Given the description of an element on the screen output the (x, y) to click on. 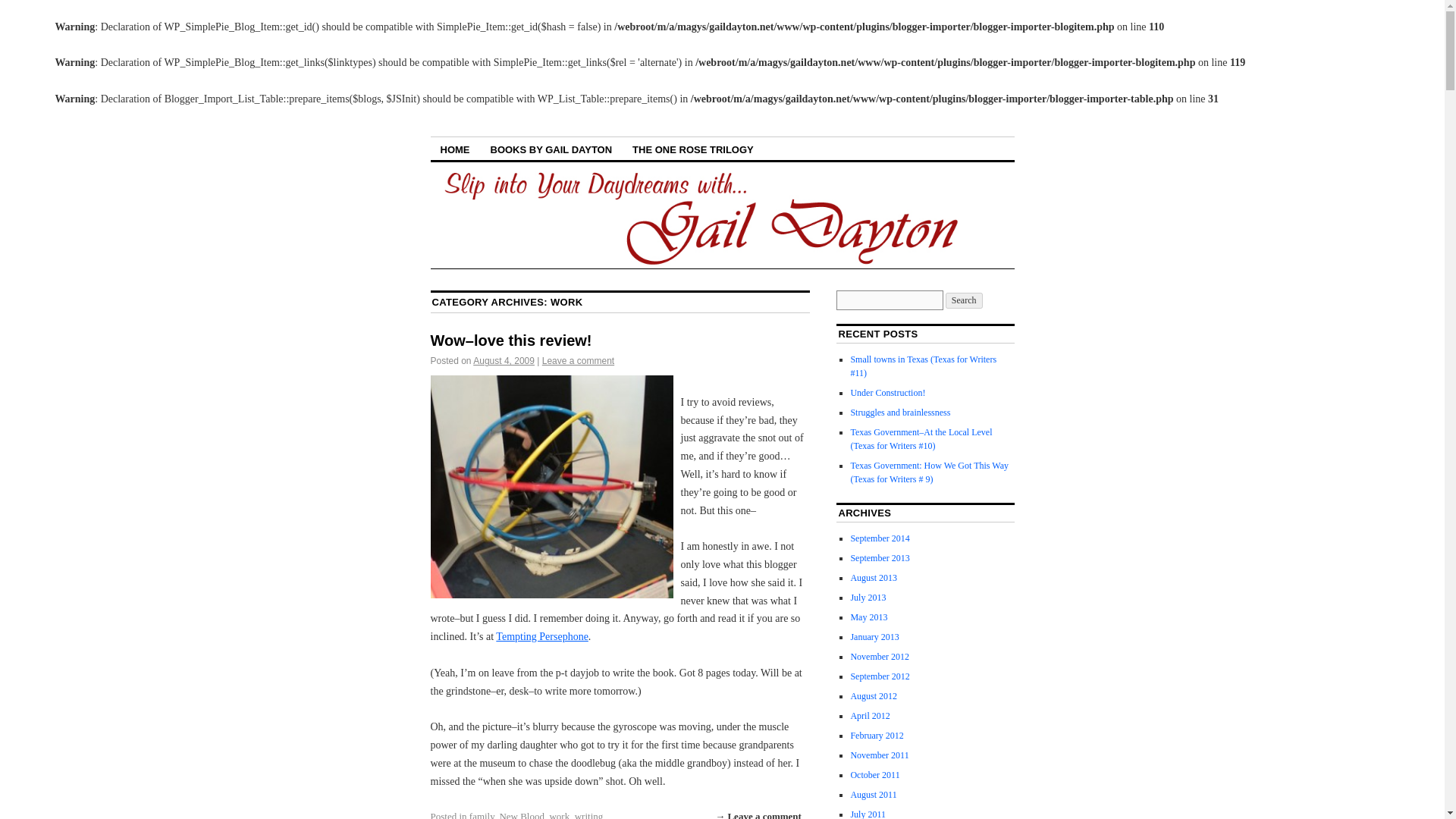
BOOKS BY GAIL DAYTON (551, 148)
work (558, 814)
3:18 am (503, 360)
HOME (455, 148)
writing (589, 814)
Leave a comment (577, 360)
August 4, 2009 (503, 360)
Search (963, 300)
New Blood (521, 814)
family (481, 814)
THE ONE ROSE TRILOGY (692, 148)
Tempting Persephone (542, 636)
